Given the description of an element on the screen output the (x, y) to click on. 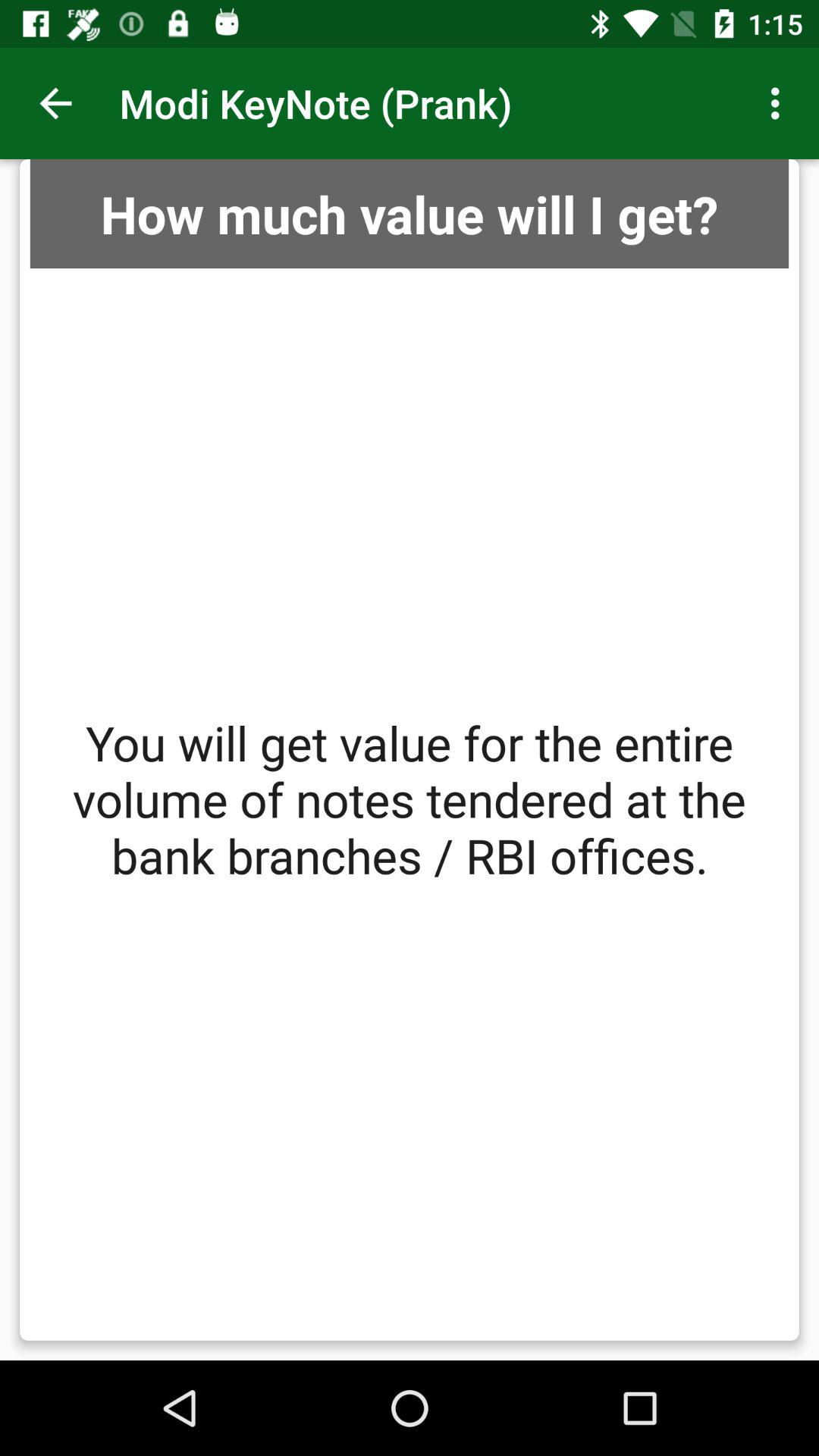
choose the icon above the how much value item (55, 103)
